Given the description of an element on the screen output the (x, y) to click on. 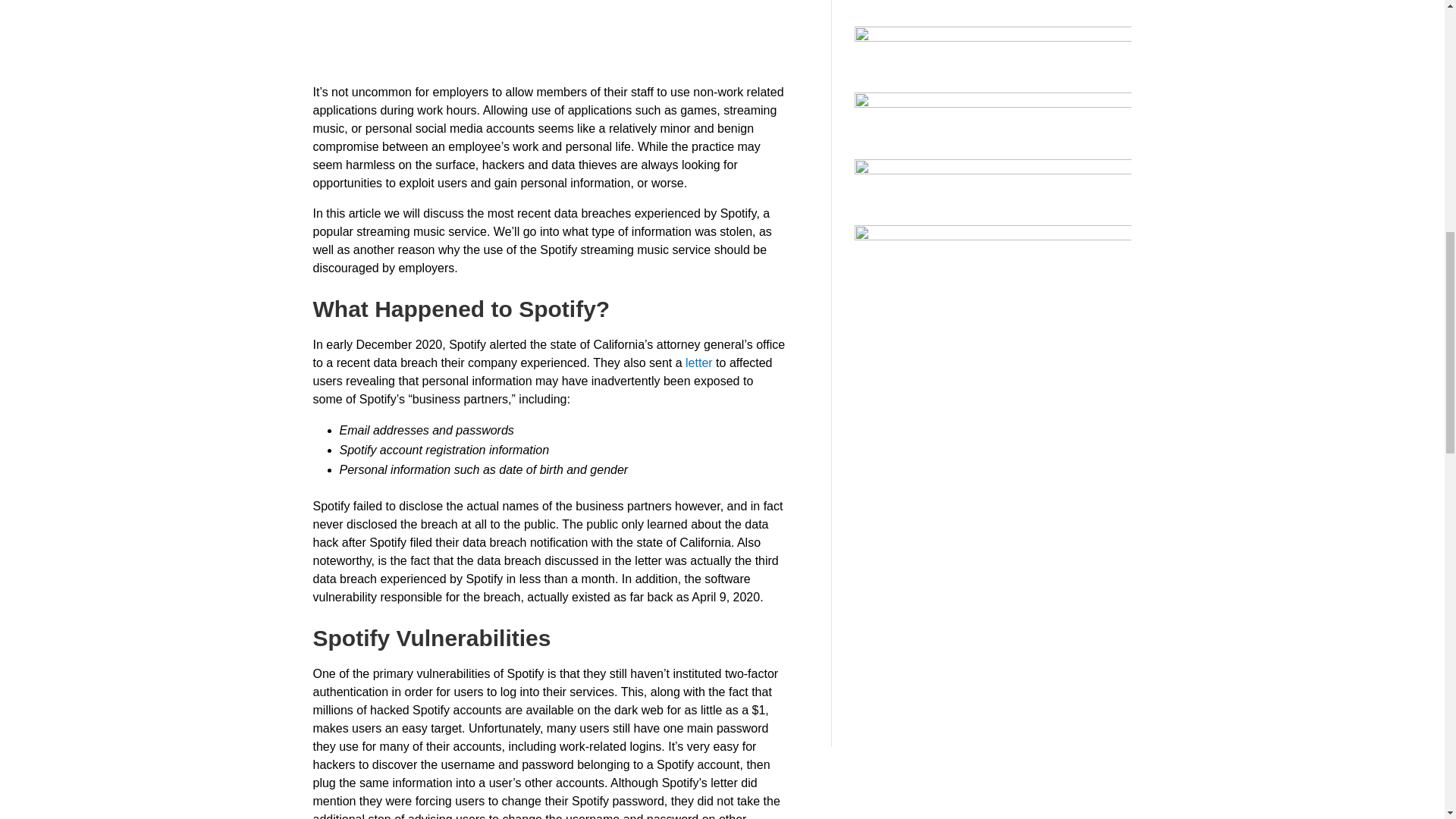
letter (699, 362)
